Given the description of an element on the screen output the (x, y) to click on. 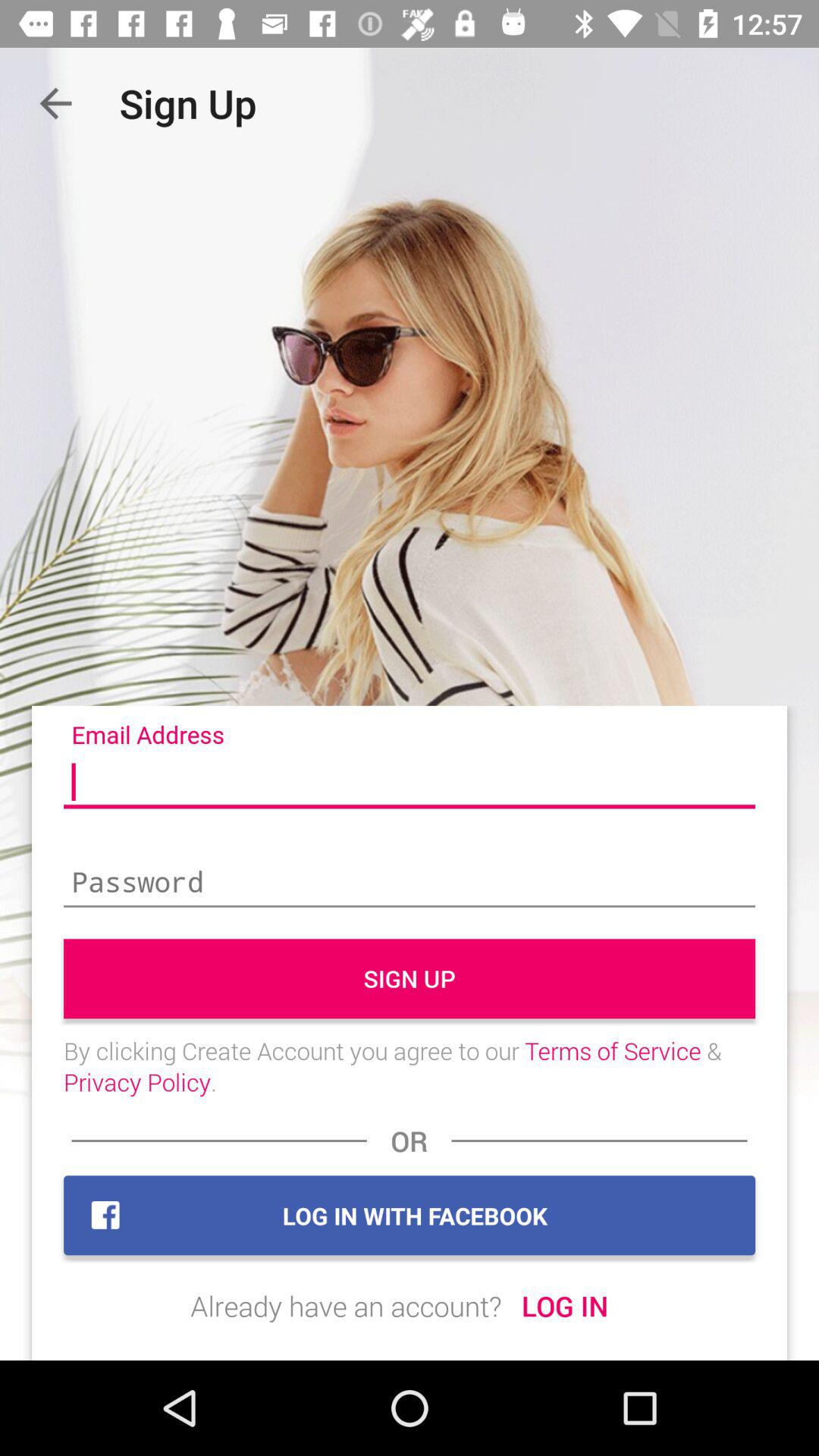
turn on the icon above the or icon (409, 1066)
